Given the description of an element on the screen output the (x, y) to click on. 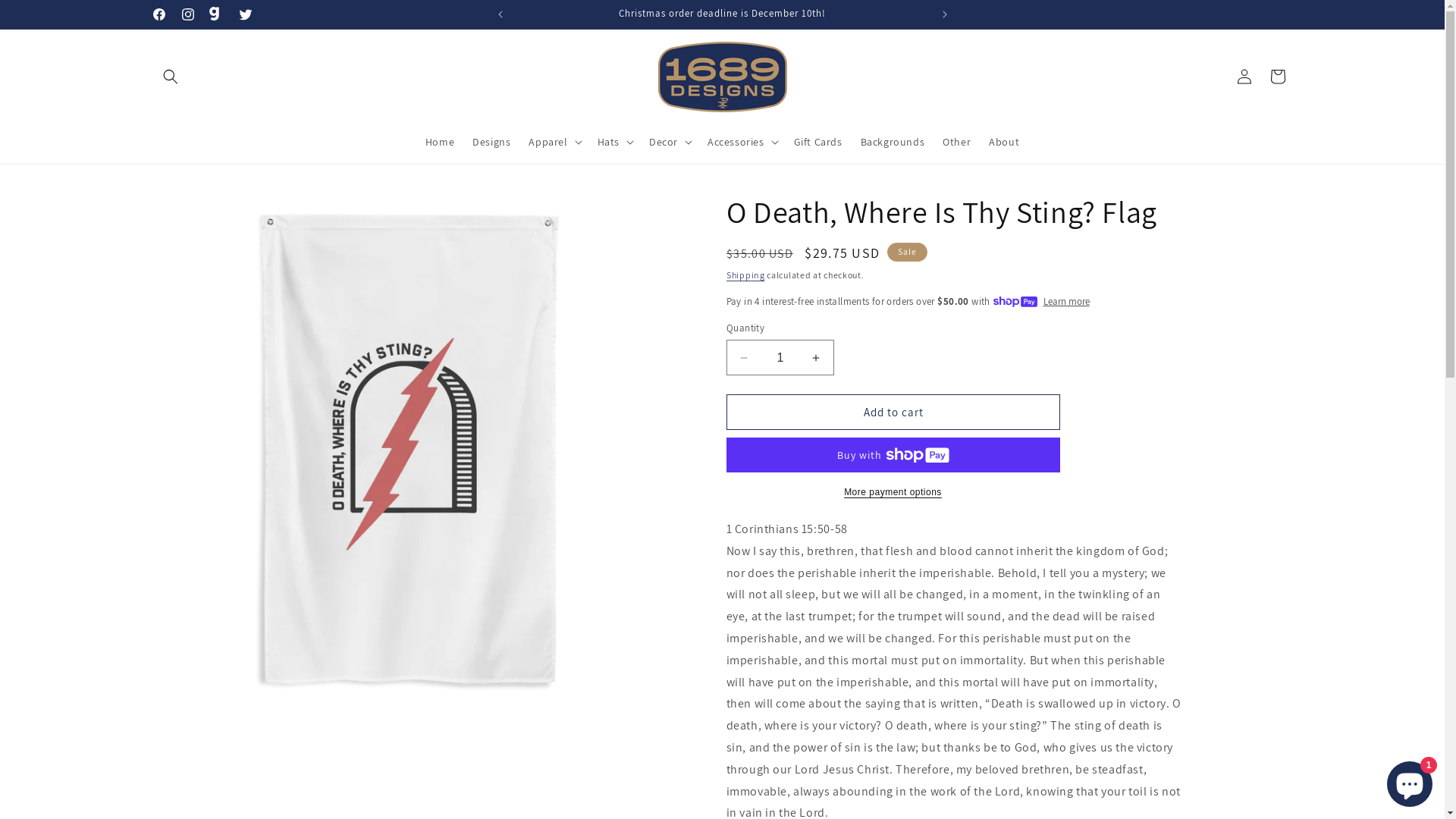
Facebook Element type: text (158, 14)
Designs Element type: text (491, 141)
Decrease quantity for O Death, Where Is Thy Sting? Flag Element type: text (743, 357)
Home Element type: text (439, 141)
Skip to product information Element type: text (199, 208)
Other Element type: text (956, 141)
Log in Element type: text (1243, 76)
Add to cart Element type: text (893, 411)
Instagram Element type: text (186, 14)
Cart Element type: text (1276, 76)
Gift Cards Element type: text (817, 141)
More payment options Element type: text (893, 491)
Twitter Element type: text (244, 14)
TikTok Element type: text (215, 14)
Backgrounds Element type: text (892, 141)
About Element type: text (1003, 141)
Shipping Element type: text (745, 274)
Shopify online store chat Element type: hover (1409, 780)
Increase quantity for O Death, Where Is Thy Sting? Flag Element type: text (816, 357)
